Given the description of an element on the screen output the (x, y) to click on. 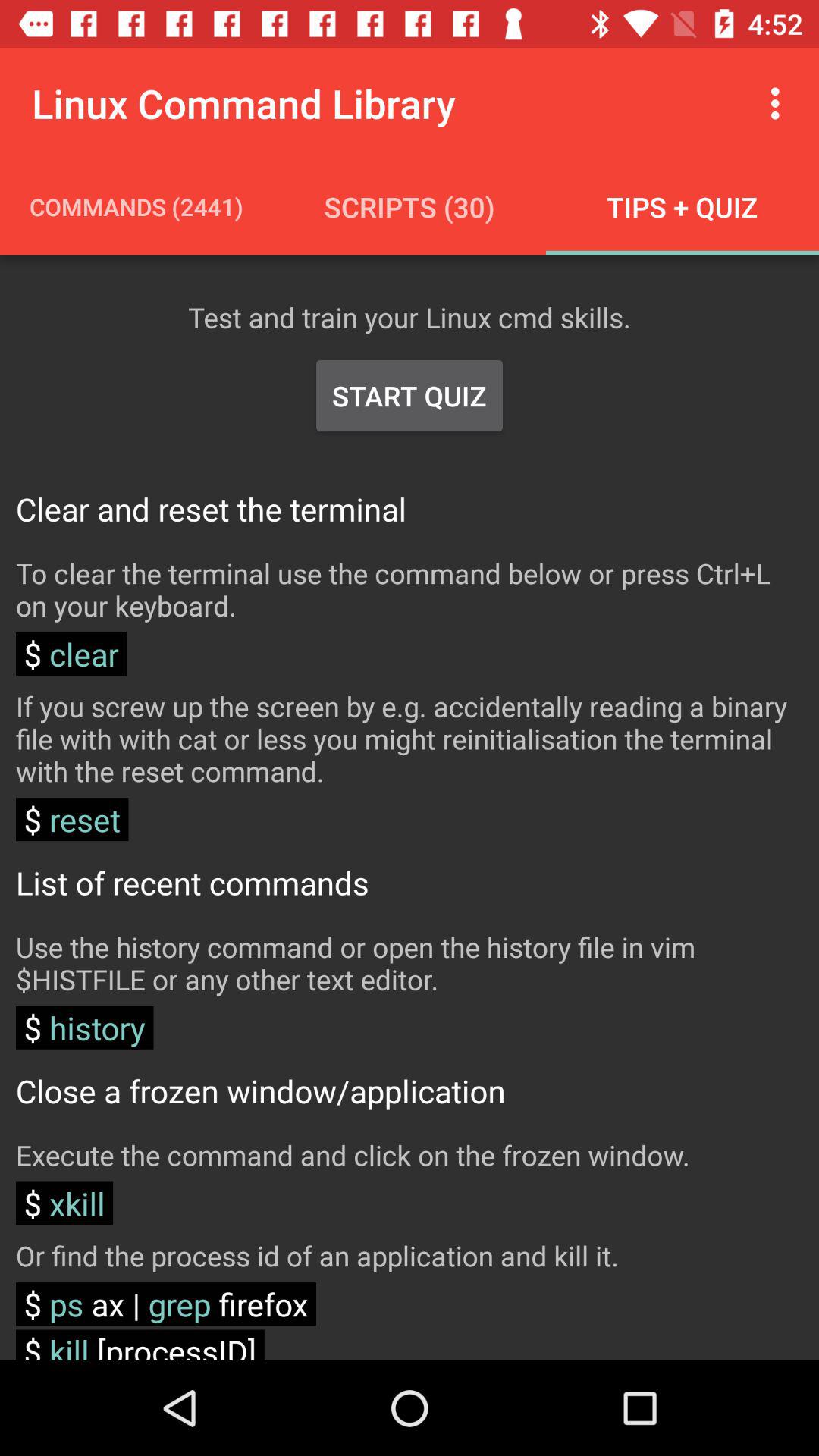
scroll to ps ax grep icon (165, 1303)
